Given the description of an element on the screen output the (x, y) to click on. 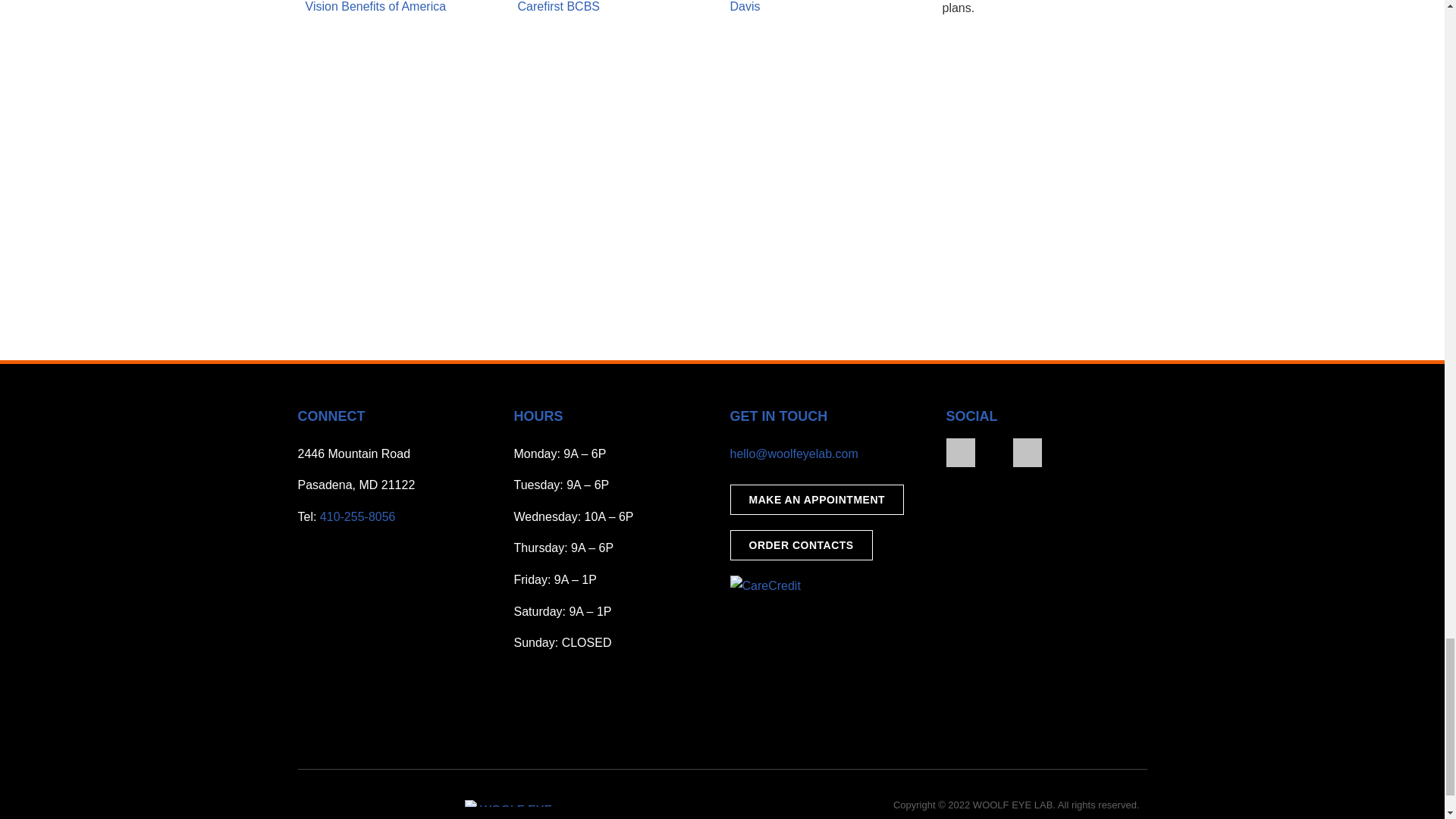
410-255-8056 (358, 516)
Davis (744, 6)
MAKE AN APPOINTMENT (816, 499)
Carefirst BCBS (557, 6)
Vision Benefits of America (374, 6)
